Given the description of an element on the screen output the (x, y) to click on. 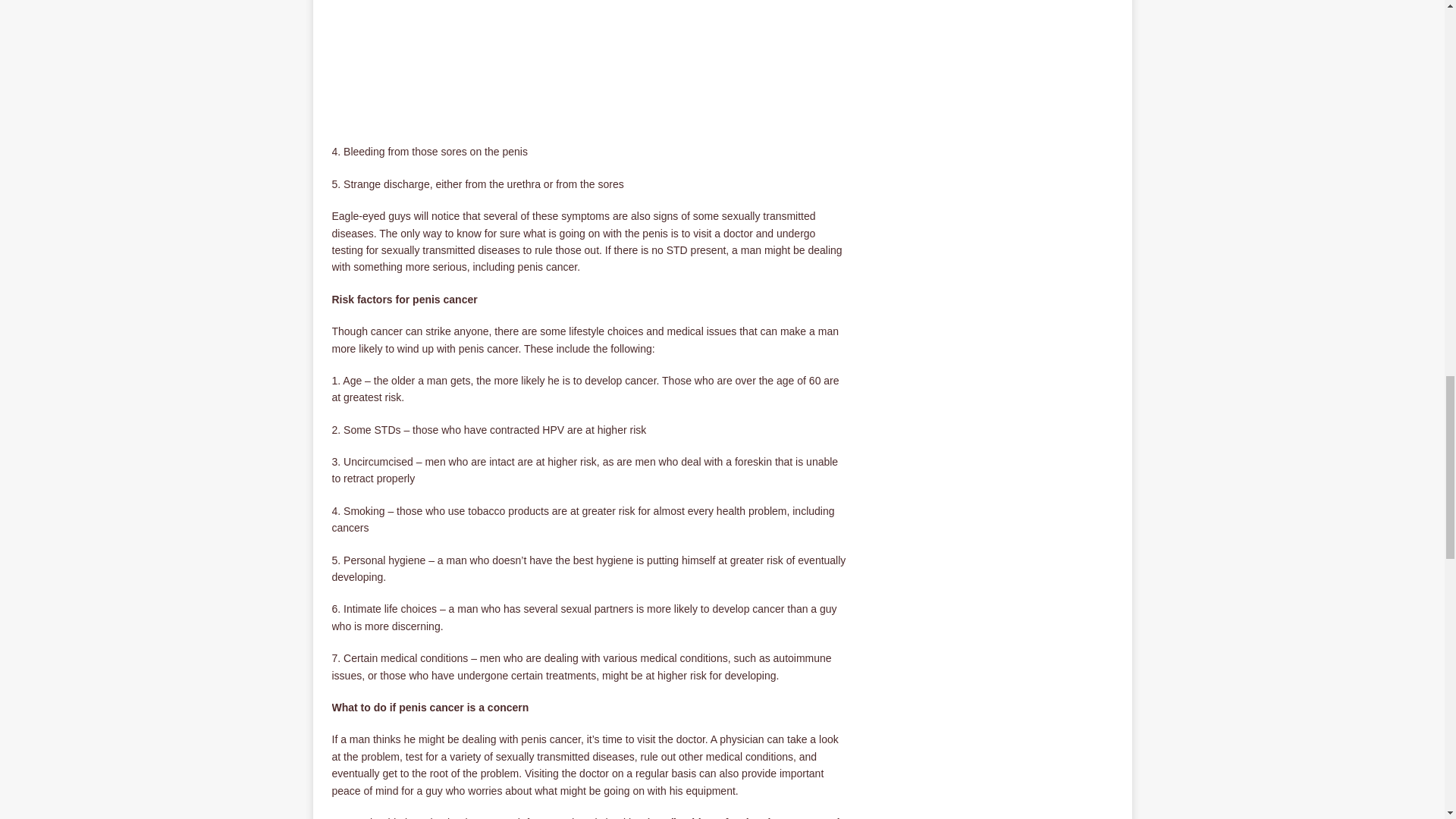
Advertisement (589, 66)
